Given the description of an element on the screen output the (x, y) to click on. 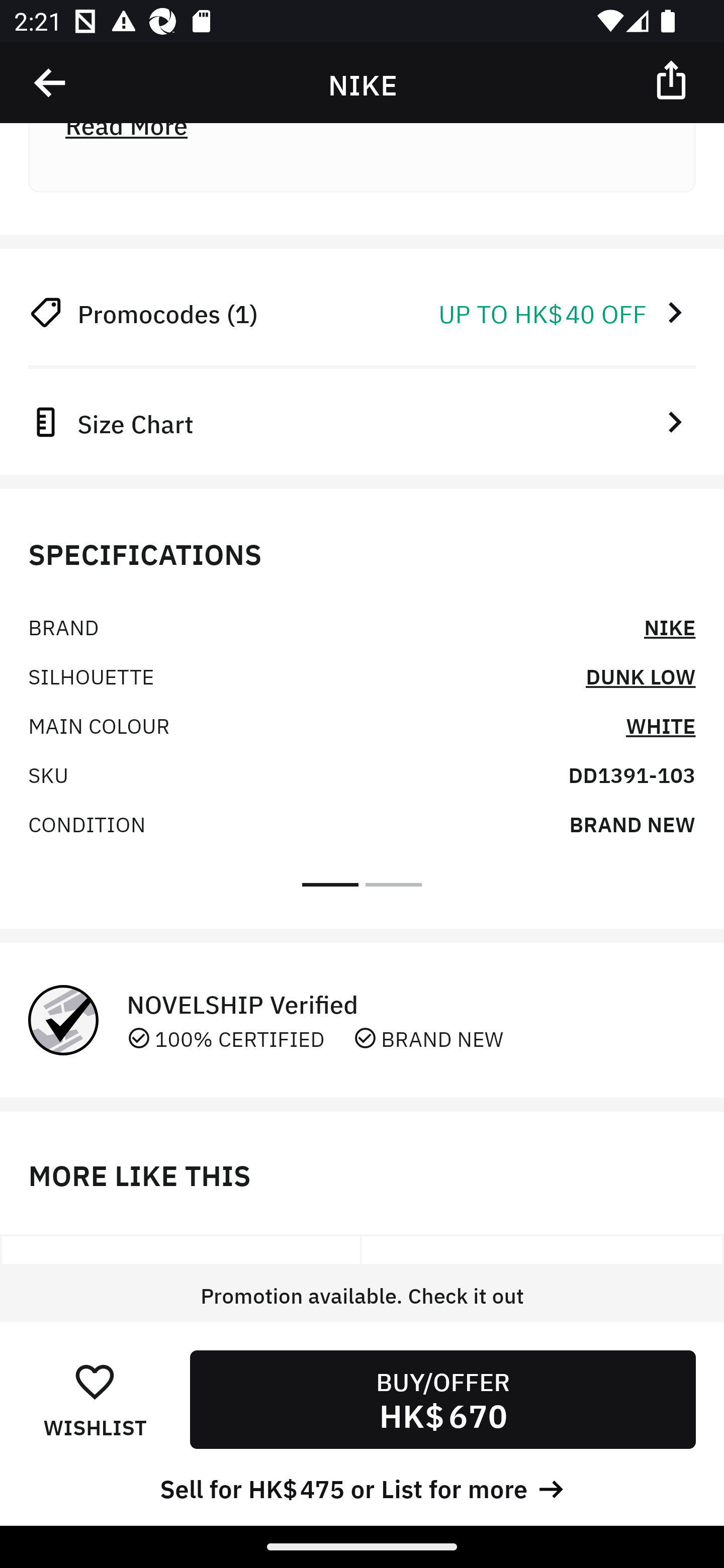
 (50, 83)
 (672, 79)
Promocodes (1) UP TO HK$ 40 OFF  (361, 312)
Size Chart  (361, 421)
NIKE (669, 626)
DUNK LOW (640, 675)
WHITE (660, 724)
DD1391-103 (631, 773)
BRAND NEW (632, 822)
BUY/OFFER HK$ 670 (442, 1399)
󰋕 (94, 1380)
Sell for HK$ 475 or List for more (361, 1486)
